Given the description of an element on the screen output the (x, y) to click on. 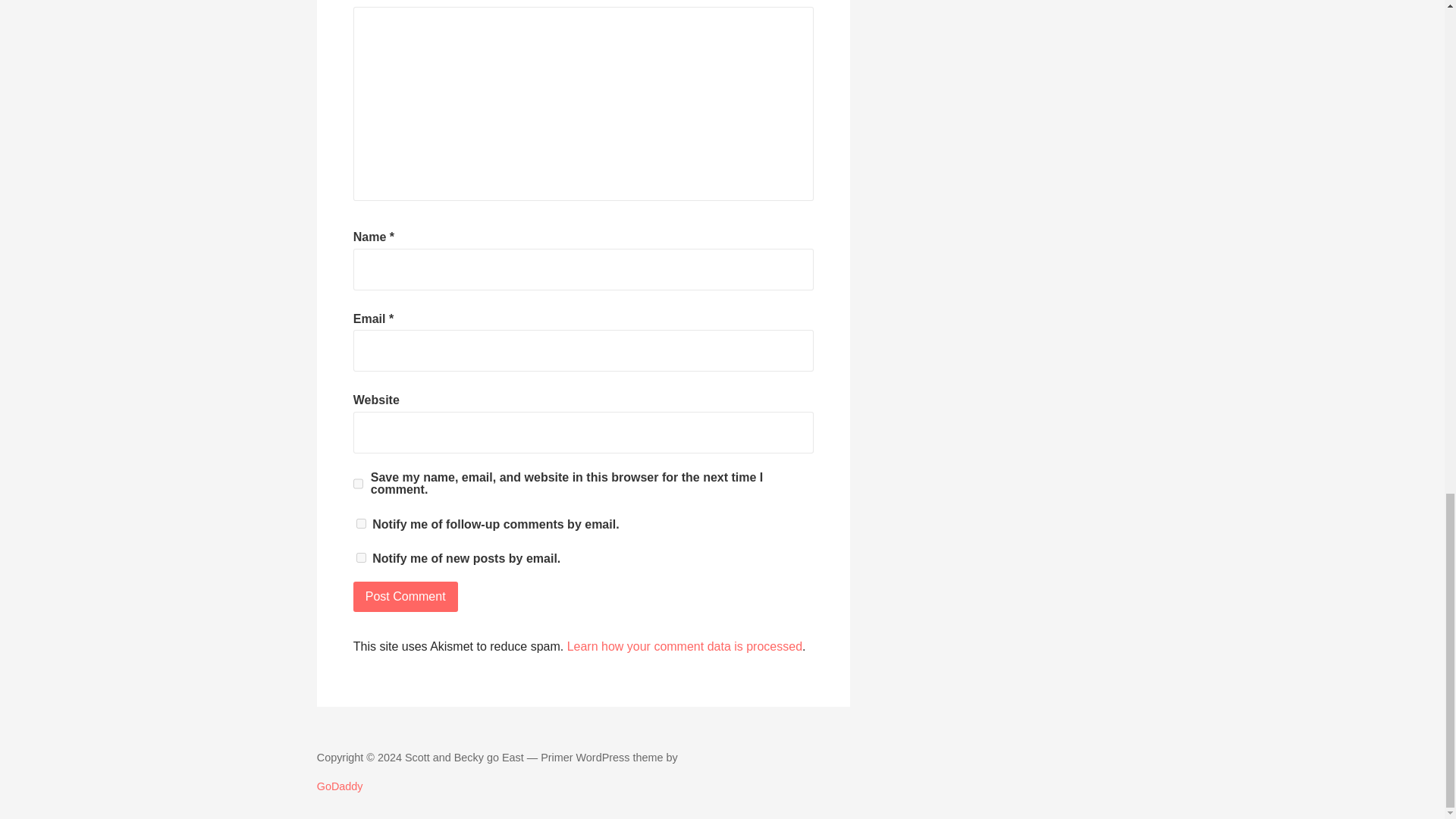
subscribe (361, 557)
Post Comment (405, 596)
subscribe (361, 523)
Post Comment (405, 596)
GoDaddy (339, 786)
Learn how your comment data is processed (684, 645)
